Given the description of an element on the screen output the (x, y) to click on. 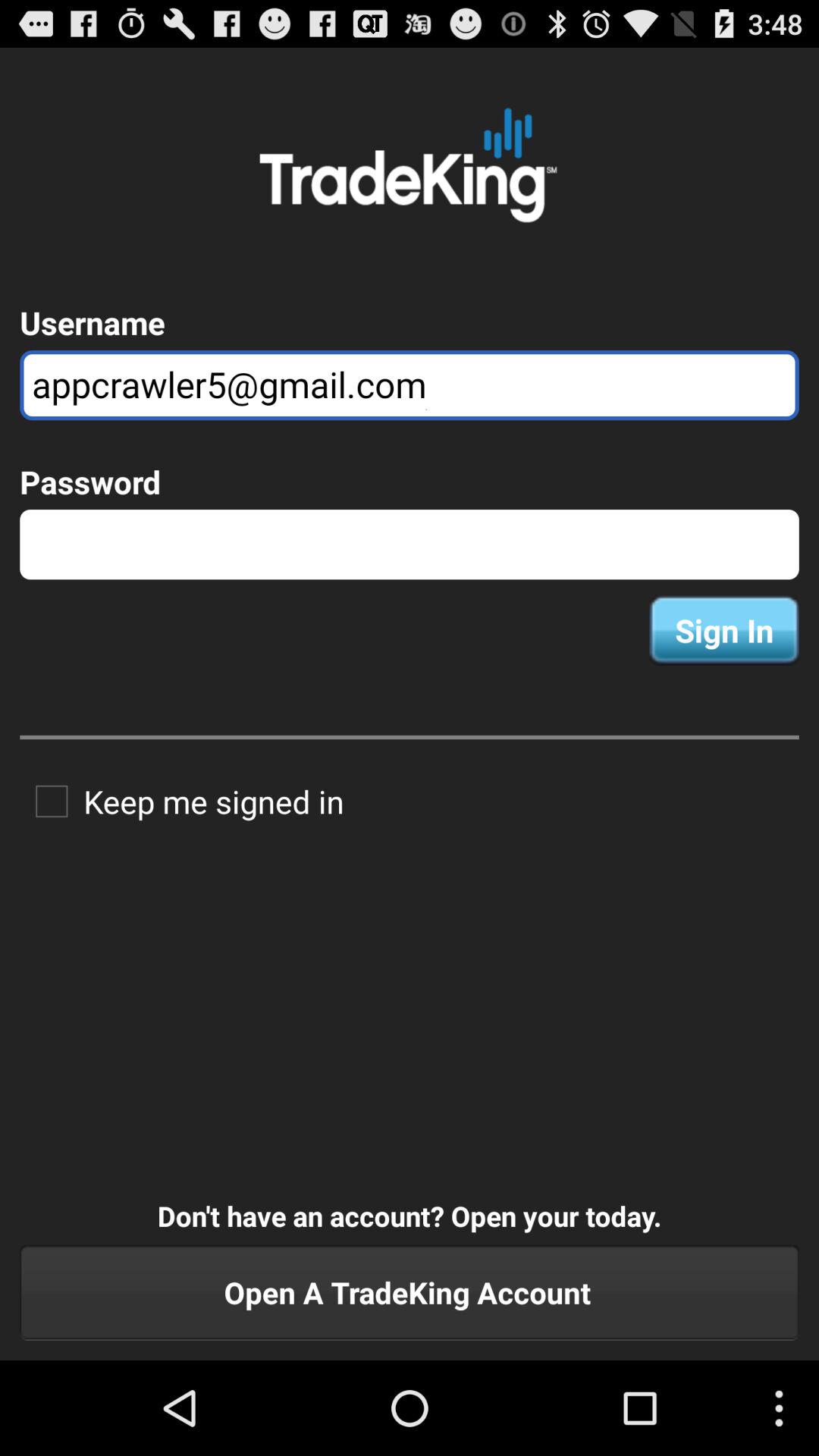
scroll until appcrawler5@gmail.com icon (409, 385)
